Given the description of an element on the screen output the (x, y) to click on. 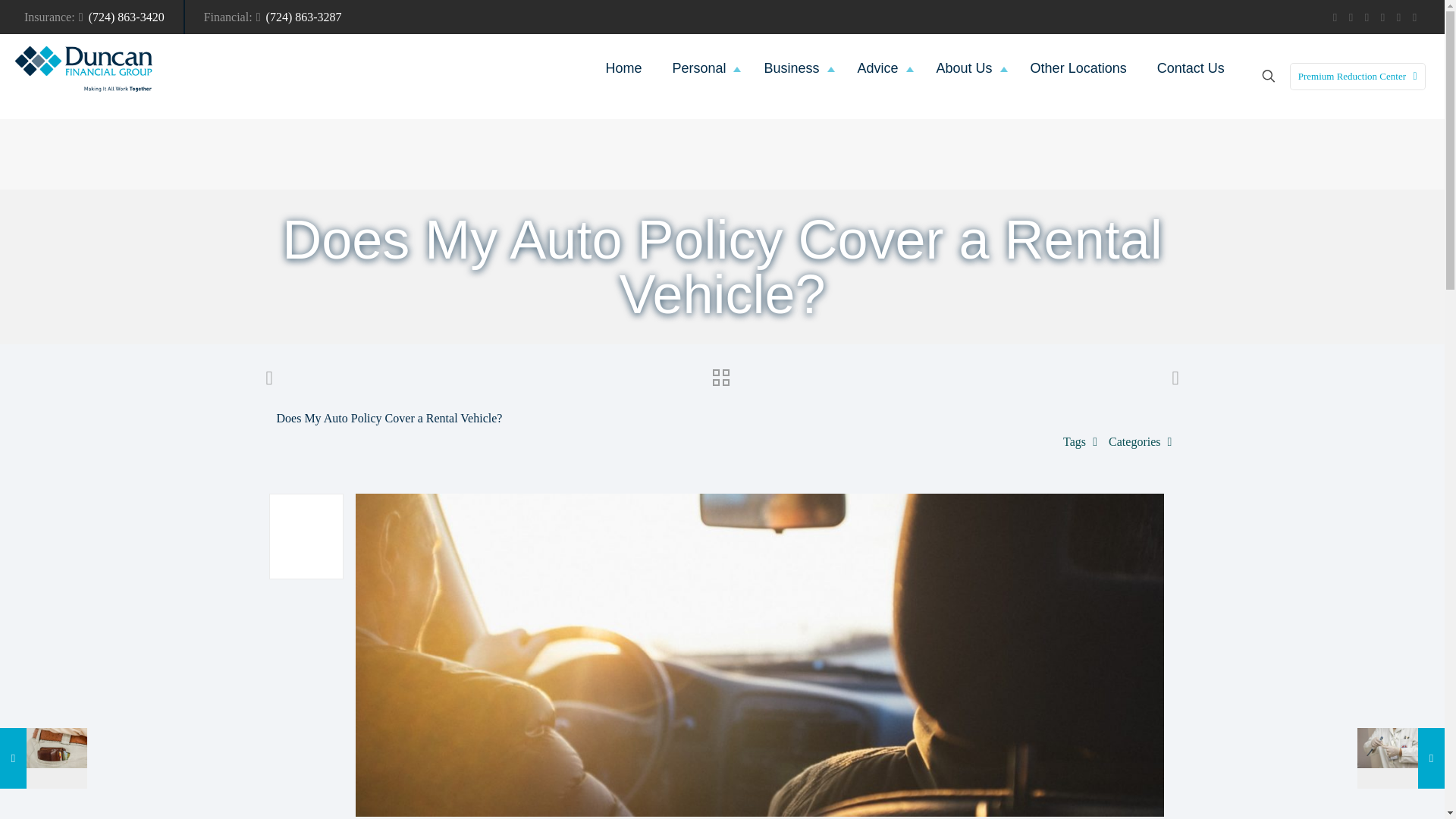
YouTube (1350, 17)
About Us (967, 68)
Home (622, 68)
VKontakte (1399, 17)
Personal (702, 68)
Instagram (1383, 17)
Advice (882, 68)
Business (794, 68)
Facebook (1334, 17)
Duncan Financial Group (83, 68)
